Given the description of an element on the screen output the (x, y) to click on. 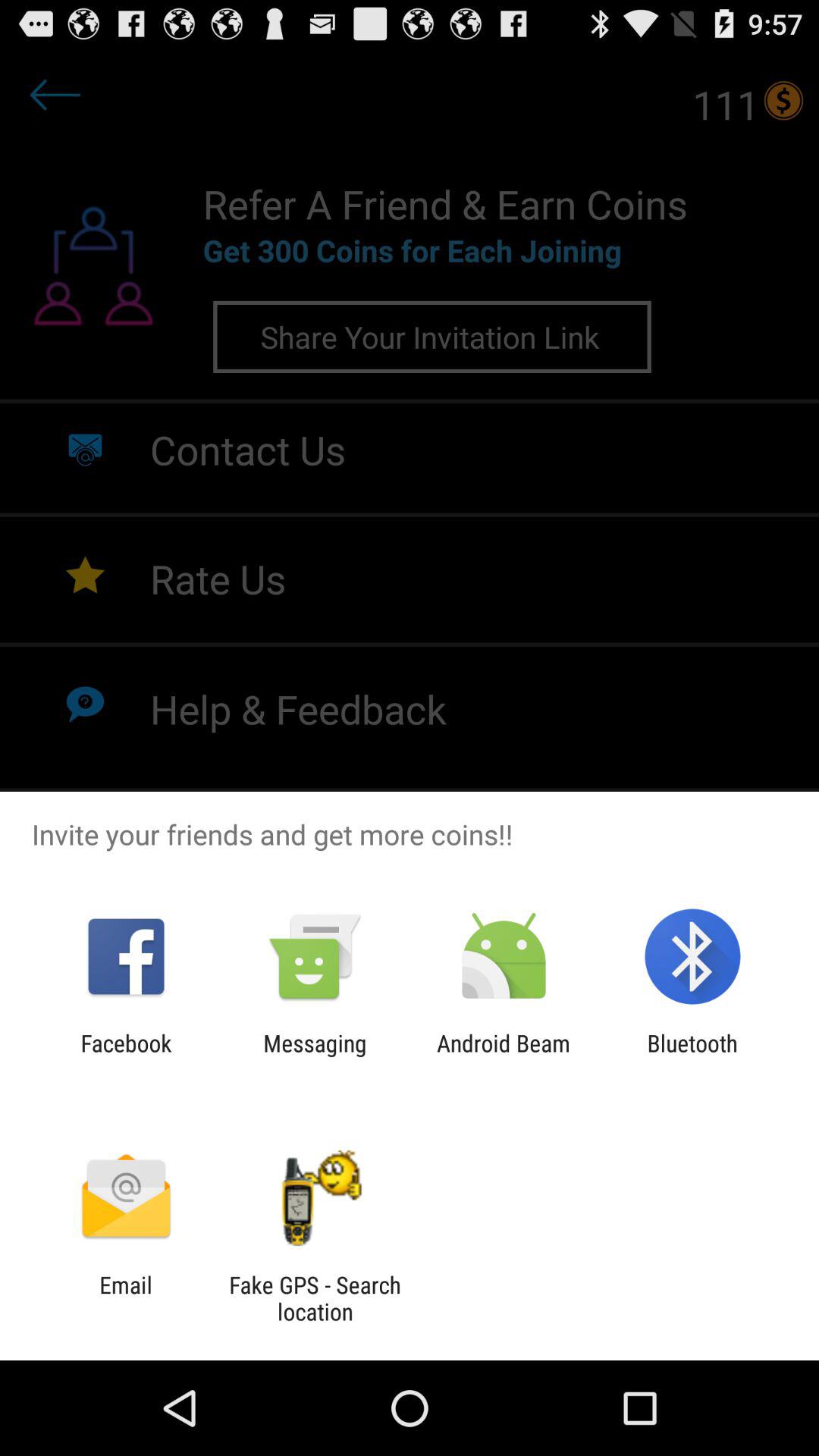
launch the email icon (125, 1298)
